Given the description of an element on the screen output the (x, y) to click on. 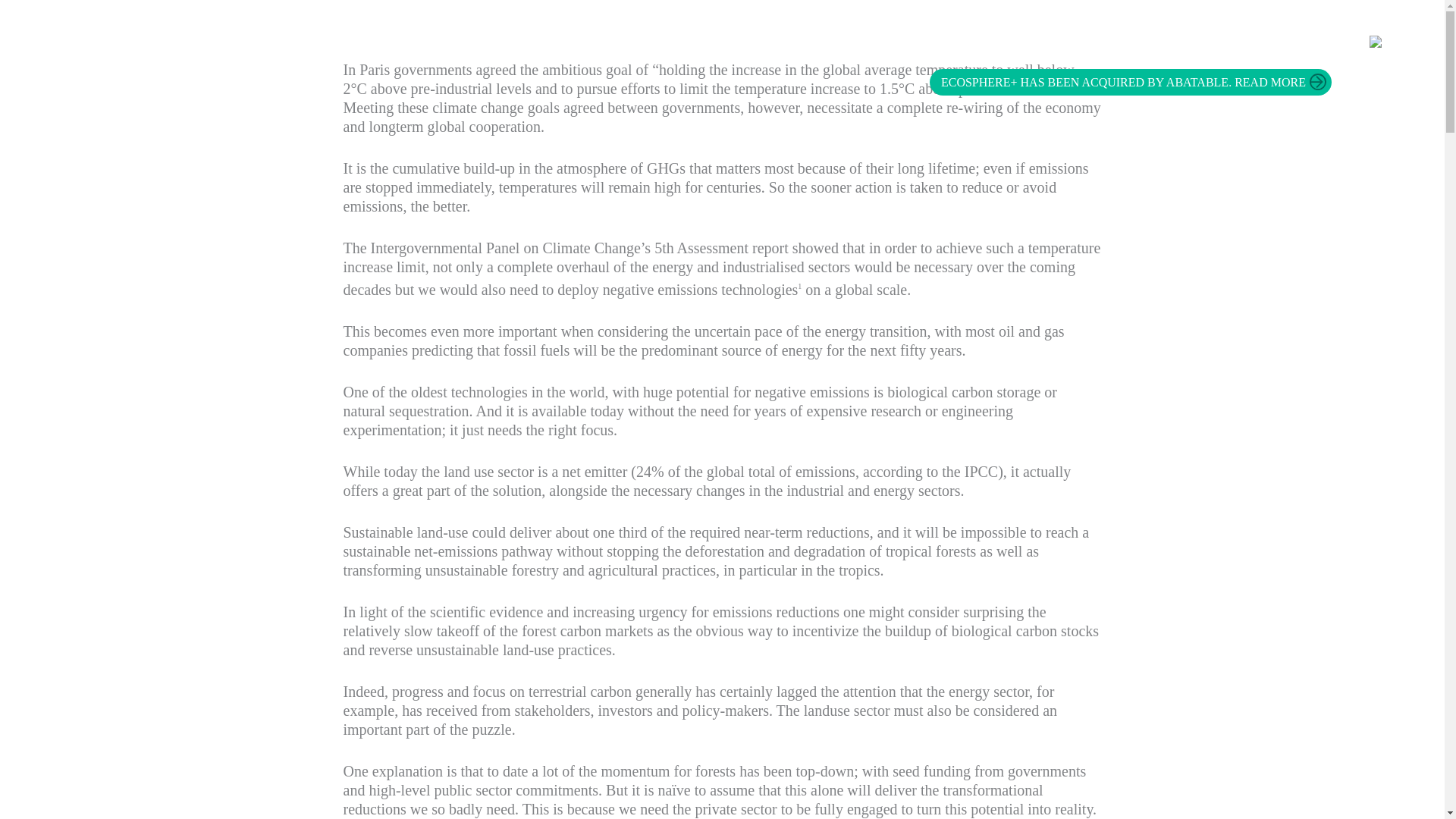
BUY CREDITS (1311, 44)
NEWS (1239, 44)
CARBON PROCUREMENT (1050, 44)
ABOUT US (776, 44)
PROJECT PARTNERSHIPS (892, 44)
RESOURCES (1172, 44)
